Given the description of an element on the screen output the (x, y) to click on. 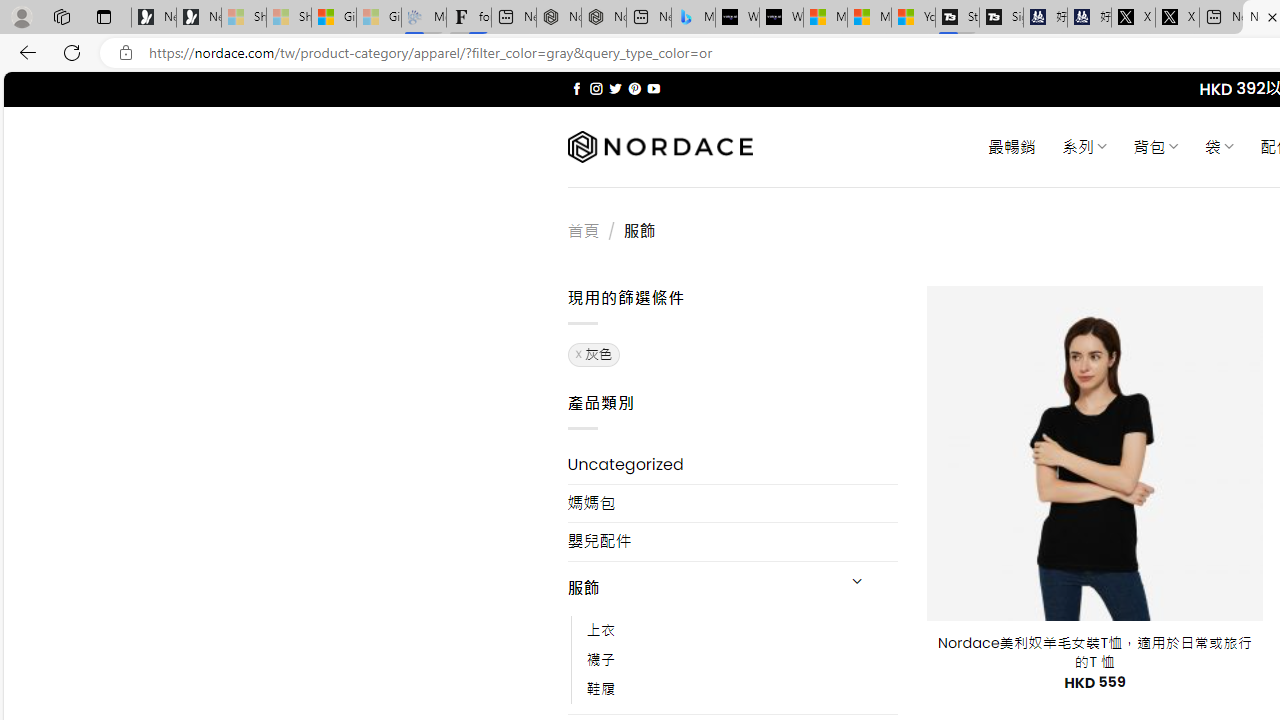
Uncategorized (732, 463)
Microsoft Bing Travel - Shangri-La Hotel Bangkok (693, 17)
Follow on YouTube (653, 88)
